Given the description of an element on the screen output the (x, y) to click on. 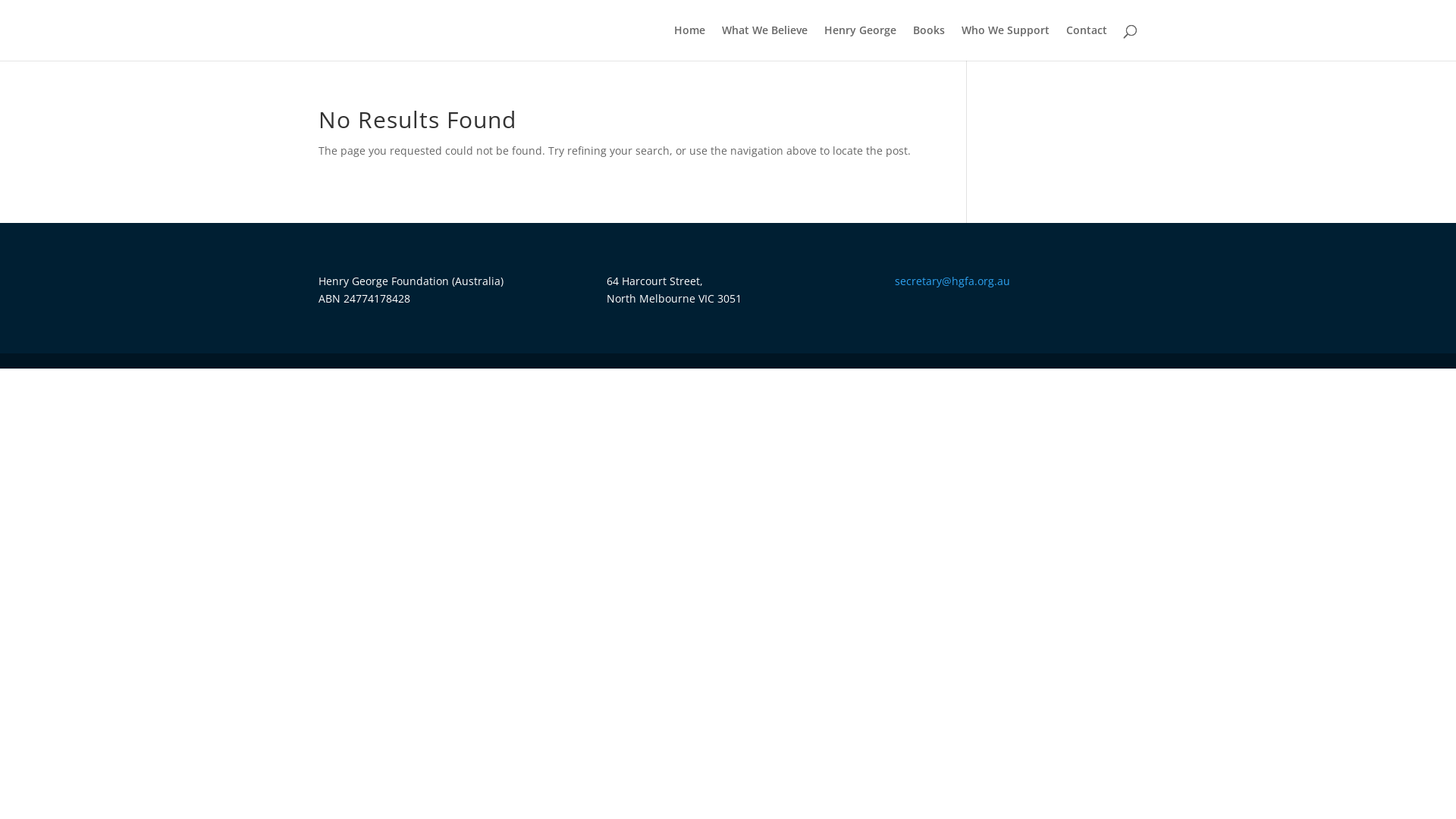
What We Believe Element type: text (764, 42)
Home Element type: text (689, 42)
secretary@hgfa.org.au Element type: text (952, 280)
Contact Element type: text (1086, 42)
Books Element type: text (928, 42)
Henry George Element type: text (860, 42)
Who We Support Element type: text (1005, 42)
